Given the description of an element on the screen output the (x, y) to click on. 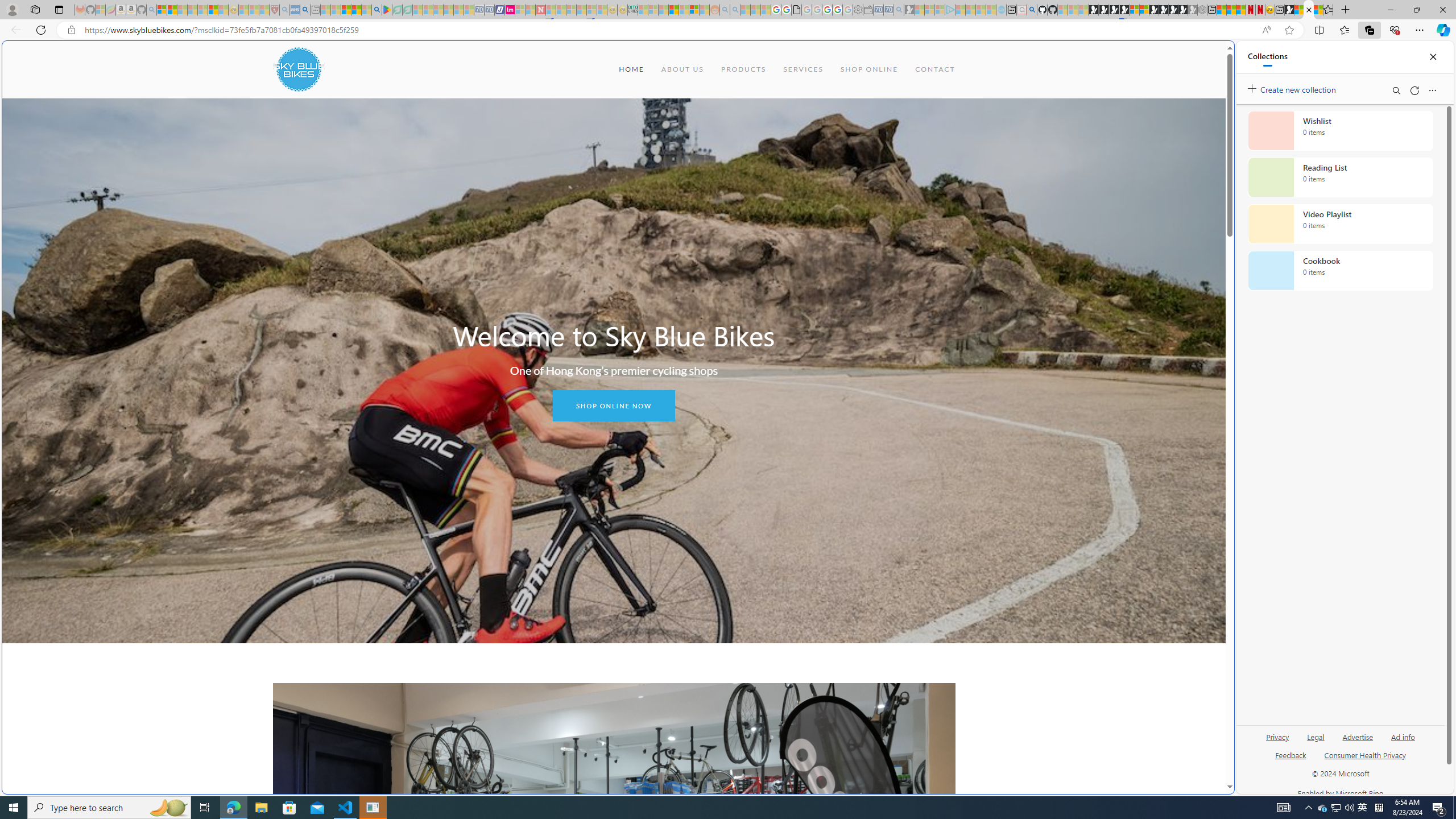
Reading List collection, 0 items (1339, 177)
Wishlist collection, 0 items (1339, 130)
